Given the description of an element on the screen output the (x, y) to click on. 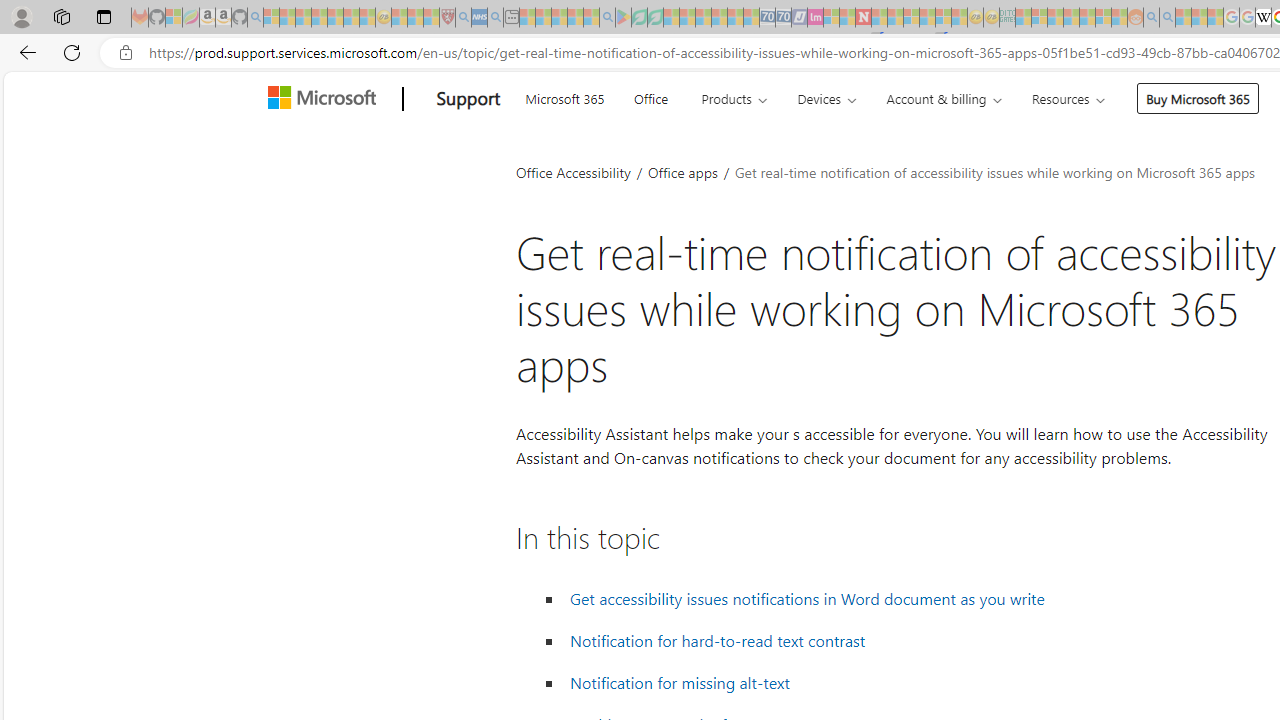
Buy Microsoft 365 (1197, 98)
